Given the description of an element on the screen output the (x, y) to click on. 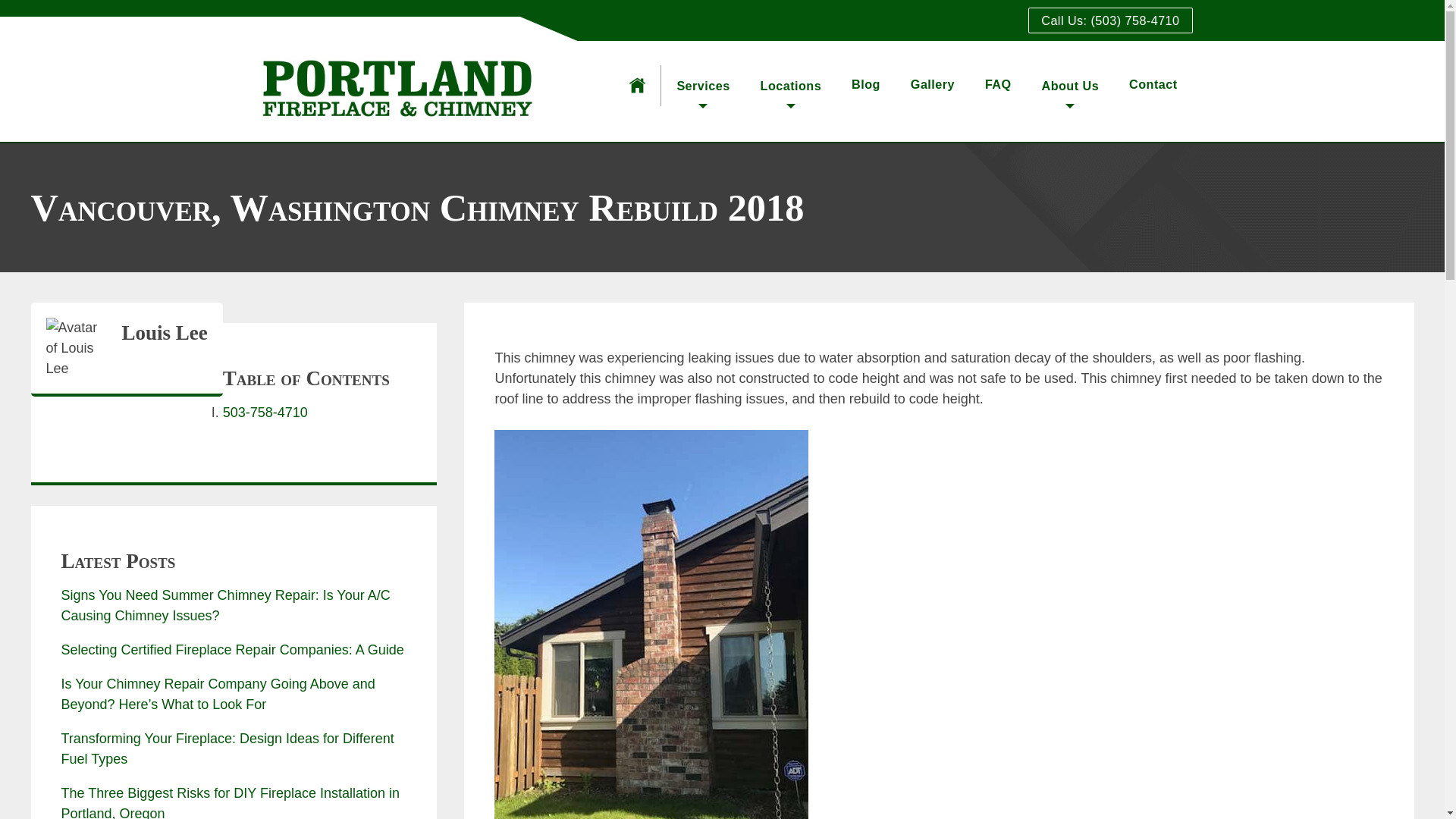
Services (703, 91)
Contact (1152, 83)
About Us (1070, 91)
FAQ (998, 83)
Blog (865, 83)
Gallery (933, 83)
Locations (791, 91)
